Given the description of an element on the screen output the (x, y) to click on. 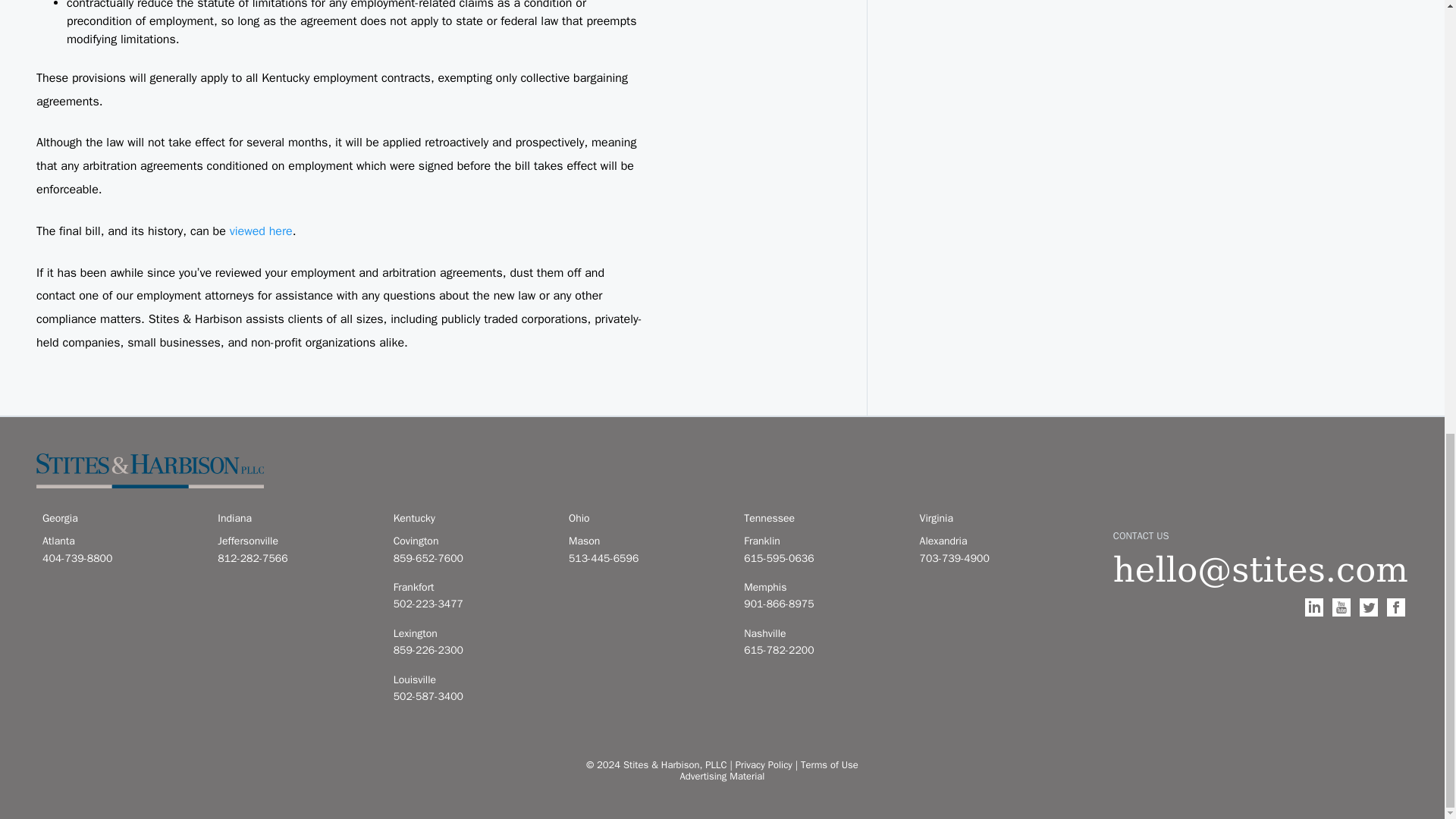
502-587-3400 (471, 696)
Lexington (471, 633)
502-223-3477 (471, 604)
615-782-2200 (822, 650)
Memphis (822, 587)
Atlanta (120, 541)
Franklin (822, 541)
513-445-6596 (647, 558)
Jeffersonville (295, 541)
Frankfort (471, 587)
901-866-8975 (822, 604)
859-226-2300 (471, 650)
Covington (471, 541)
859-652-7600 (471, 558)
404-739-8800 (120, 558)
